Given the description of an element on the screen output the (x, y) to click on. 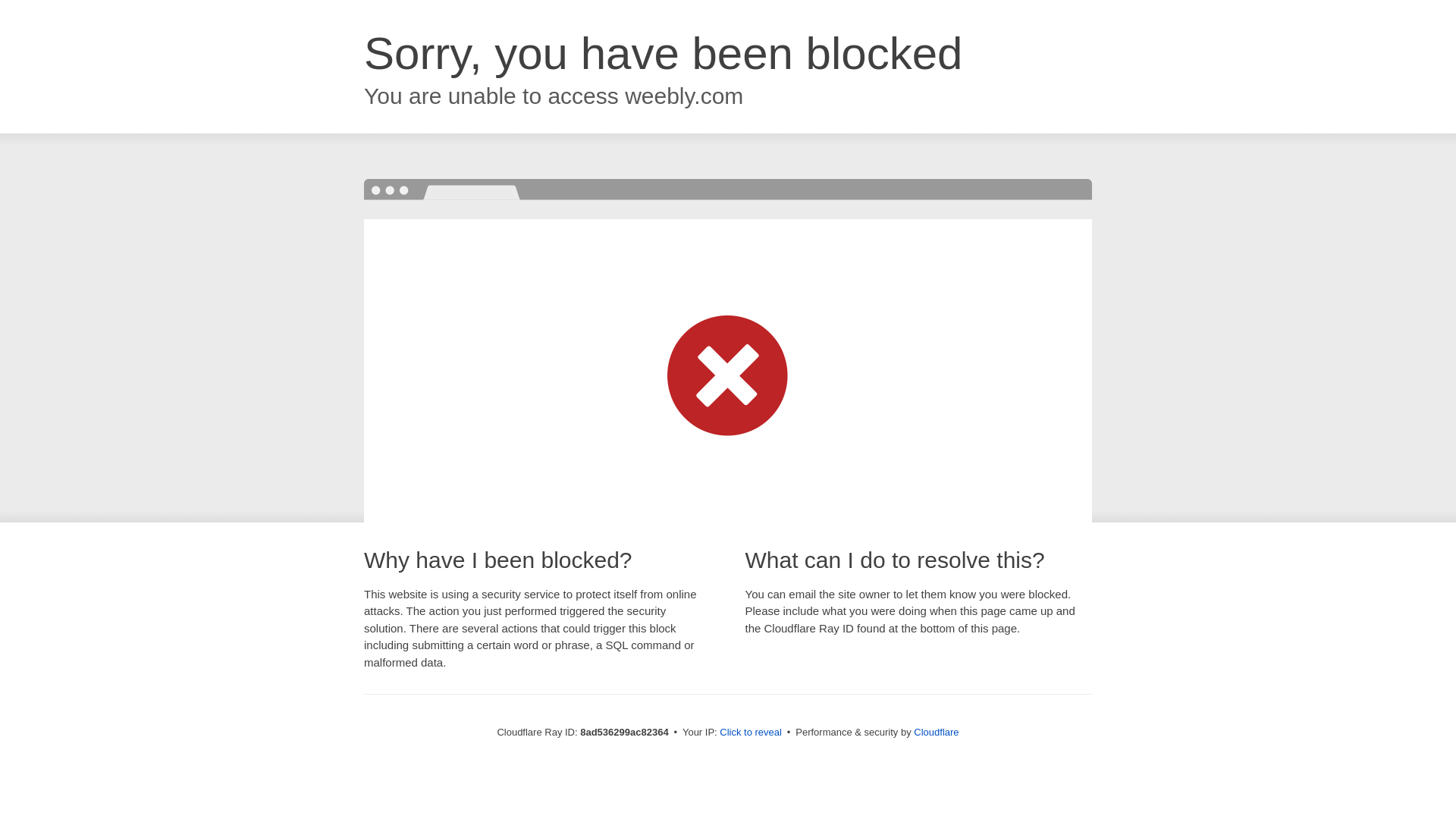
Cloudflare (936, 731)
Click to reveal (750, 732)
